Given the description of an element on the screen output the (x, y) to click on. 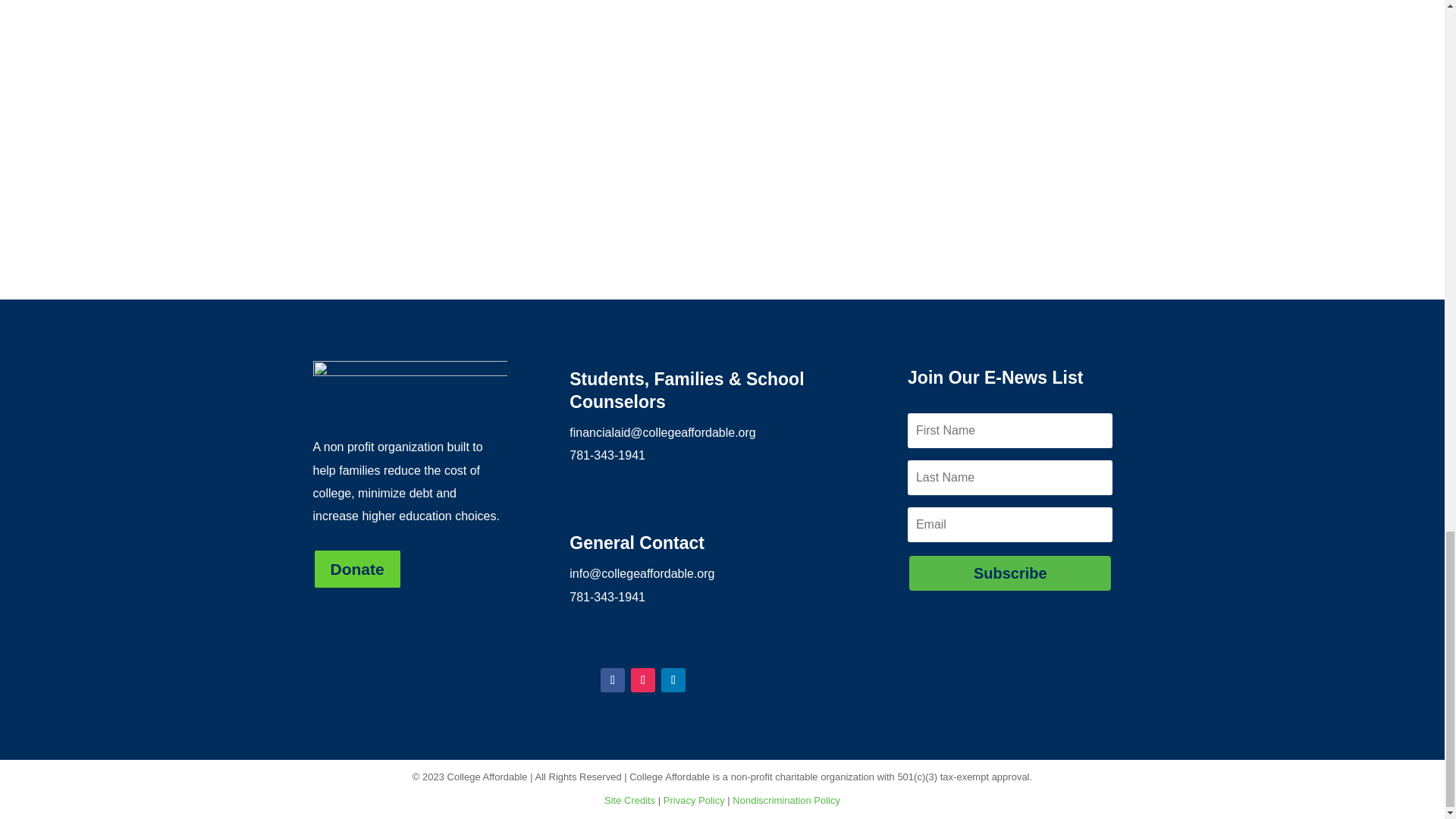
Donate (356, 568)
Follow on LinkedIn (673, 680)
Subscribe (1009, 573)
Follow on Instagram (642, 680)
Follow on Facebook (611, 680)
Nondiscrimination Policy (786, 799)
Privacy Policy (694, 799)
Site Credits (629, 799)
